Given the description of an element on the screen output the (x, y) to click on. 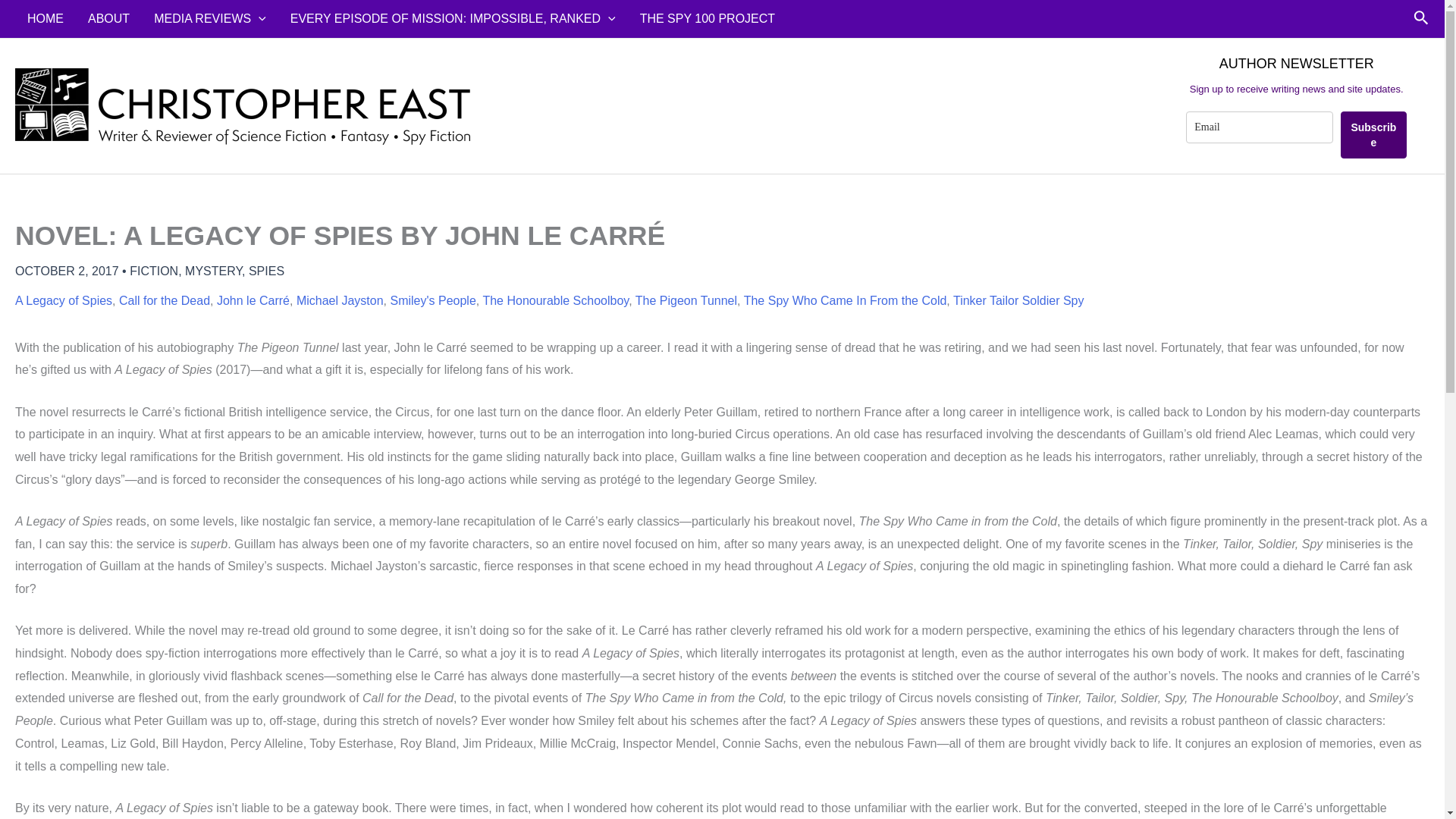
A Legacy of Spies (63, 300)
HOME (44, 18)
Call for the Dead (164, 300)
Smiley's People (433, 300)
MEDIA REVIEWS (209, 18)
THE SPY 100 PROJECT (707, 18)
Subscribe (1373, 134)
MYSTERY (212, 270)
Michael Jayston (340, 300)
FICTION (153, 270)
